Given the description of an element on the screen output the (x, y) to click on. 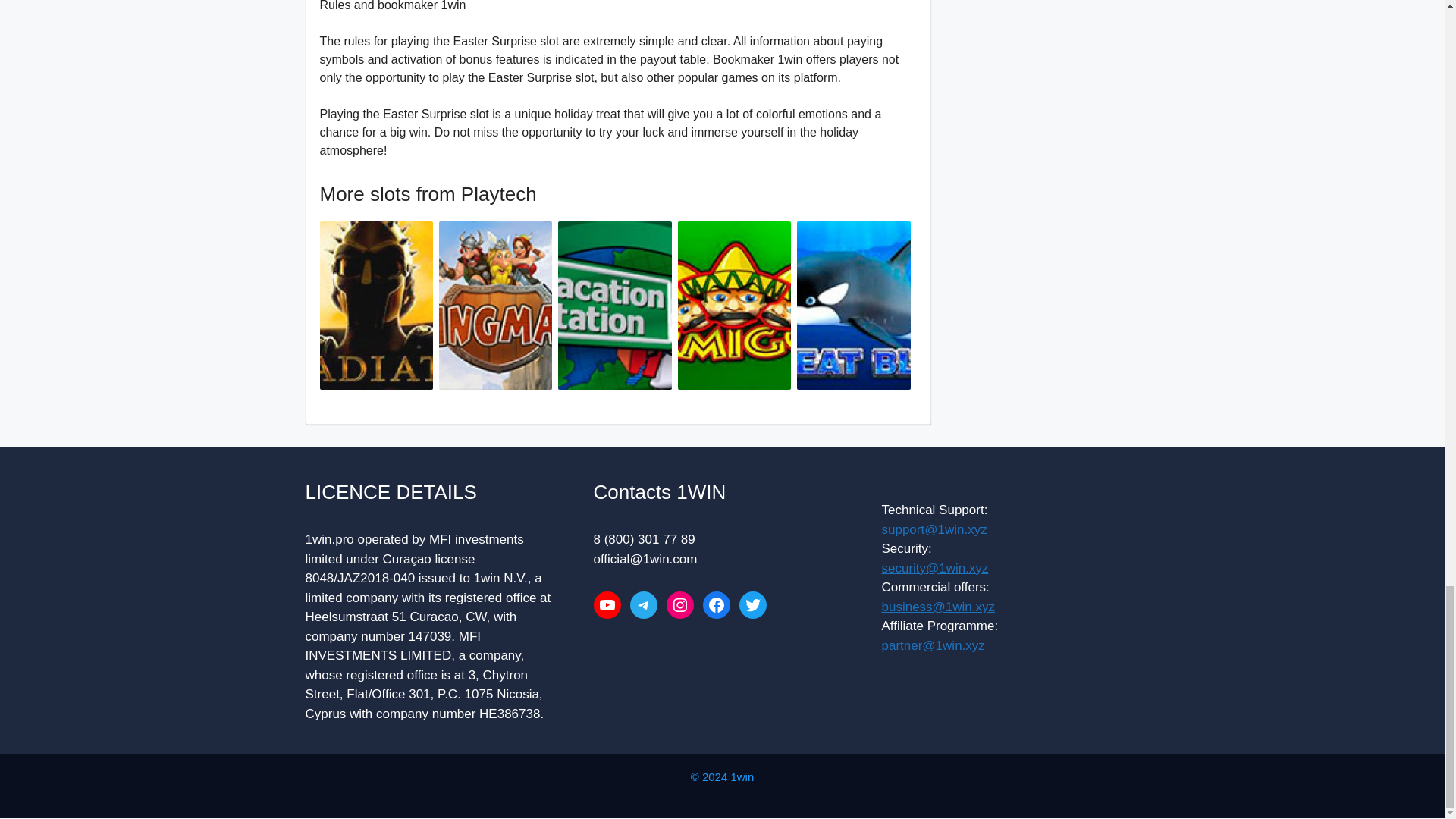
Telegram (642, 605)
Twitter (751, 605)
Instagram (679, 605)
Facebook (715, 605)
YouTube (606, 605)
